Given the description of an element on the screen output the (x, y) to click on. 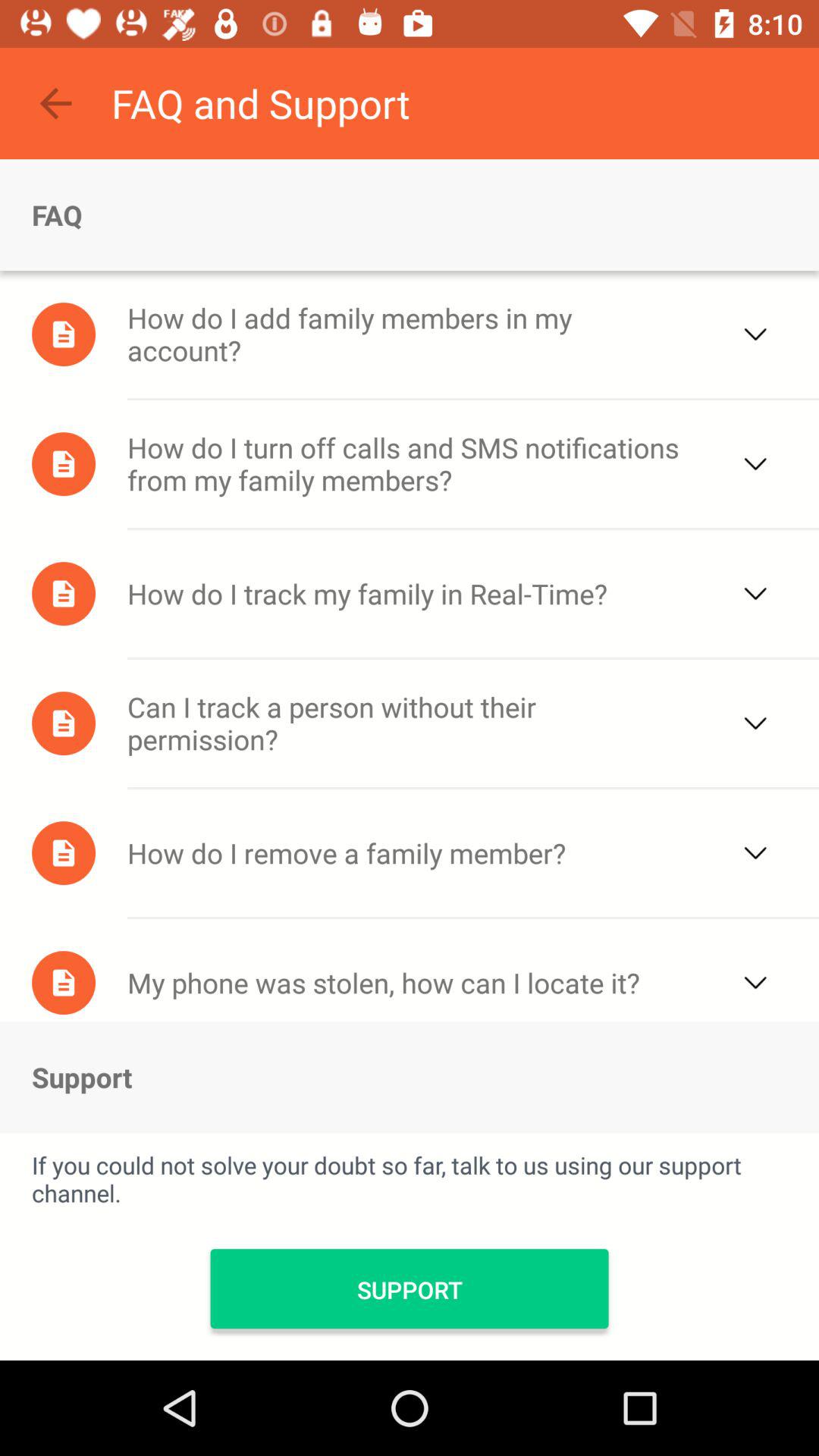
open the icon next to faq and support icon (55, 103)
